Given the description of an element on the screen output the (x, y) to click on. 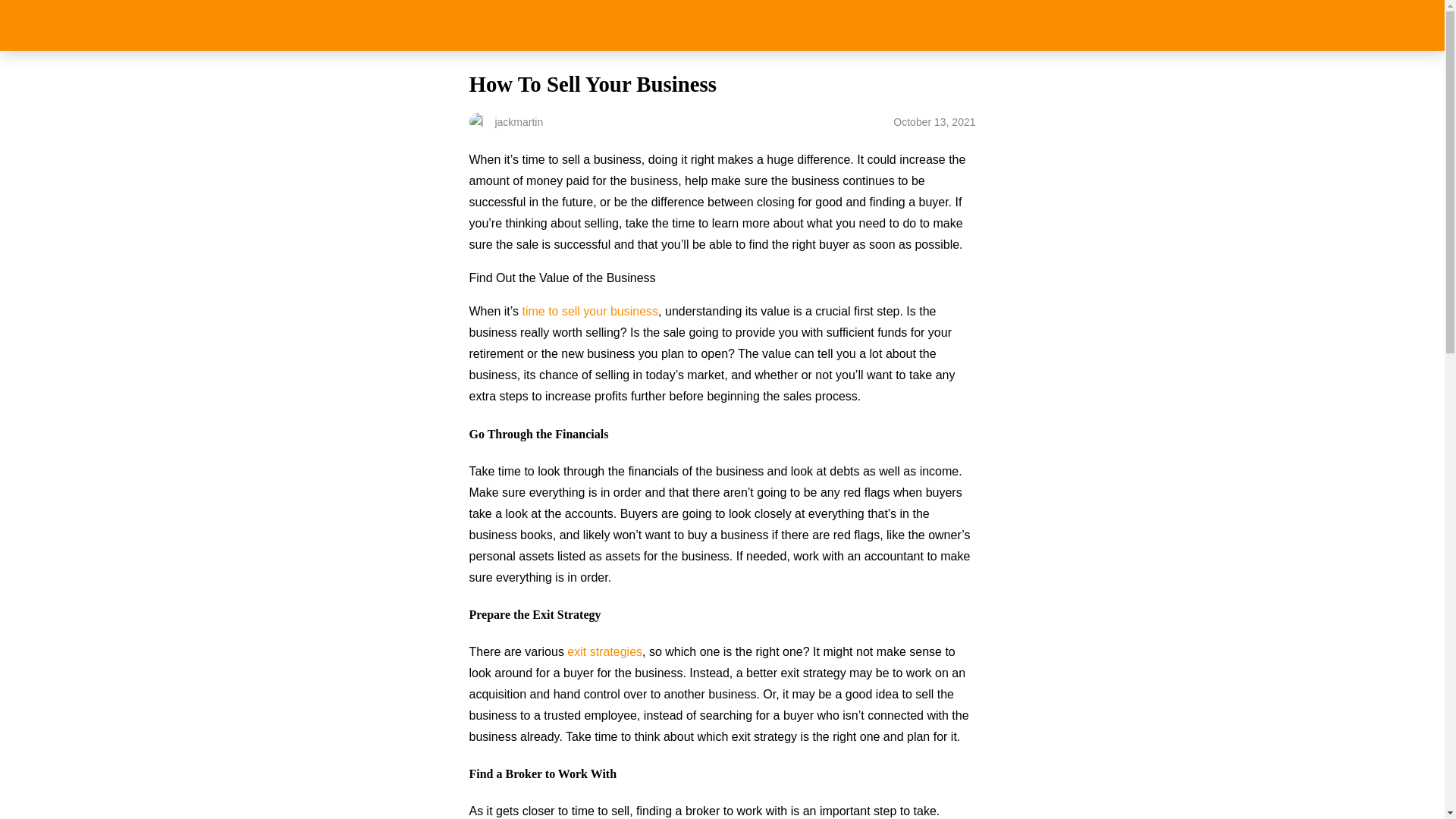
exit strategies (604, 651)
Netherlandsnewslive.com (721, 25)
time to sell your business (589, 310)
